Given the description of an element on the screen output the (x, y) to click on. 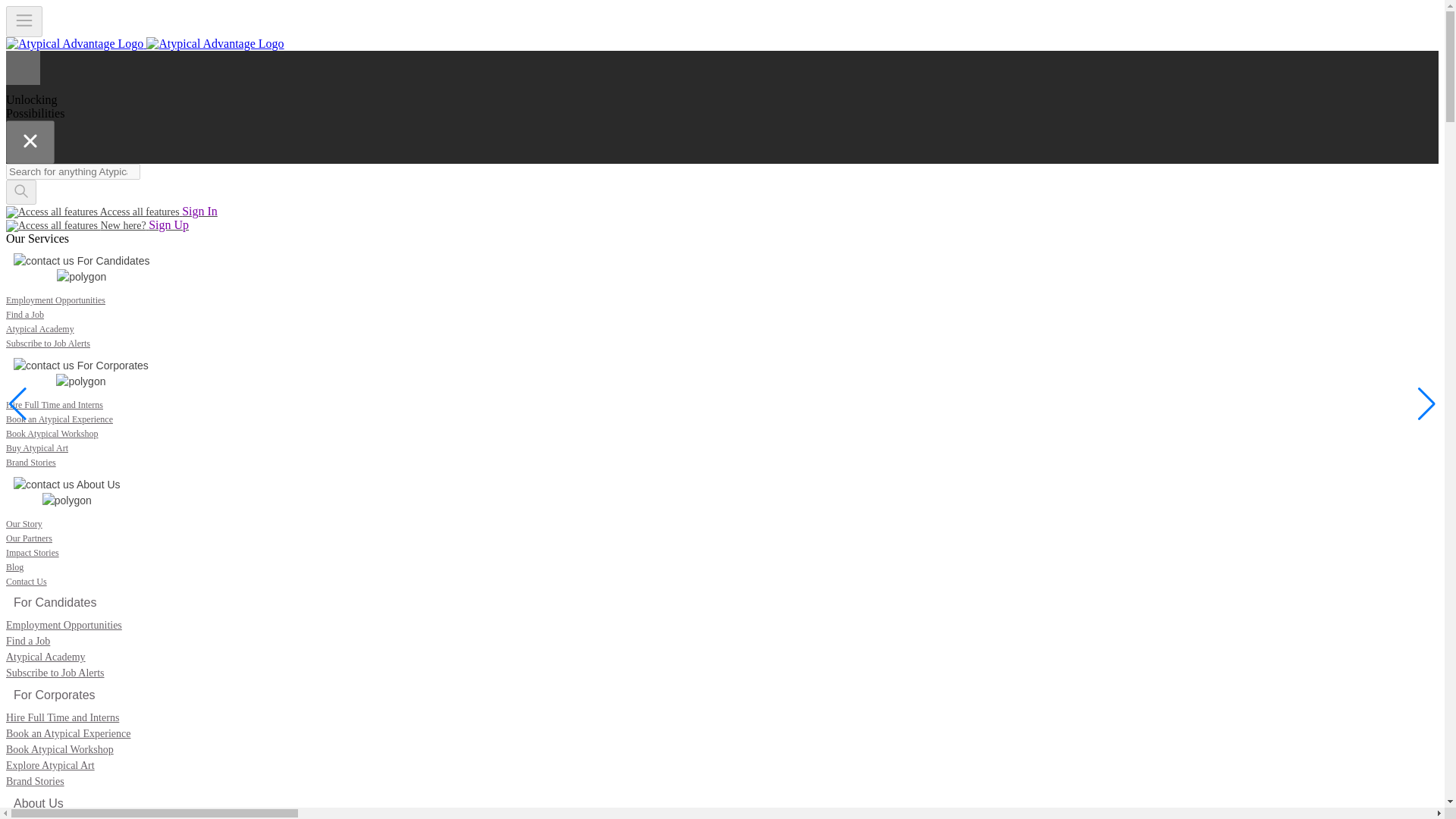
Access all features Sign In (110, 211)
Contact Us (25, 581)
Brand Stories (34, 781)
Employment Opportunities (54, 299)
Find a Job (27, 641)
New here? Sign Up (97, 225)
Impact Stories (32, 552)
Our Partners (28, 538)
For Candidates (54, 602)
Subscribe to Job Alerts (54, 672)
